Given the description of an element on the screen output the (x, y) to click on. 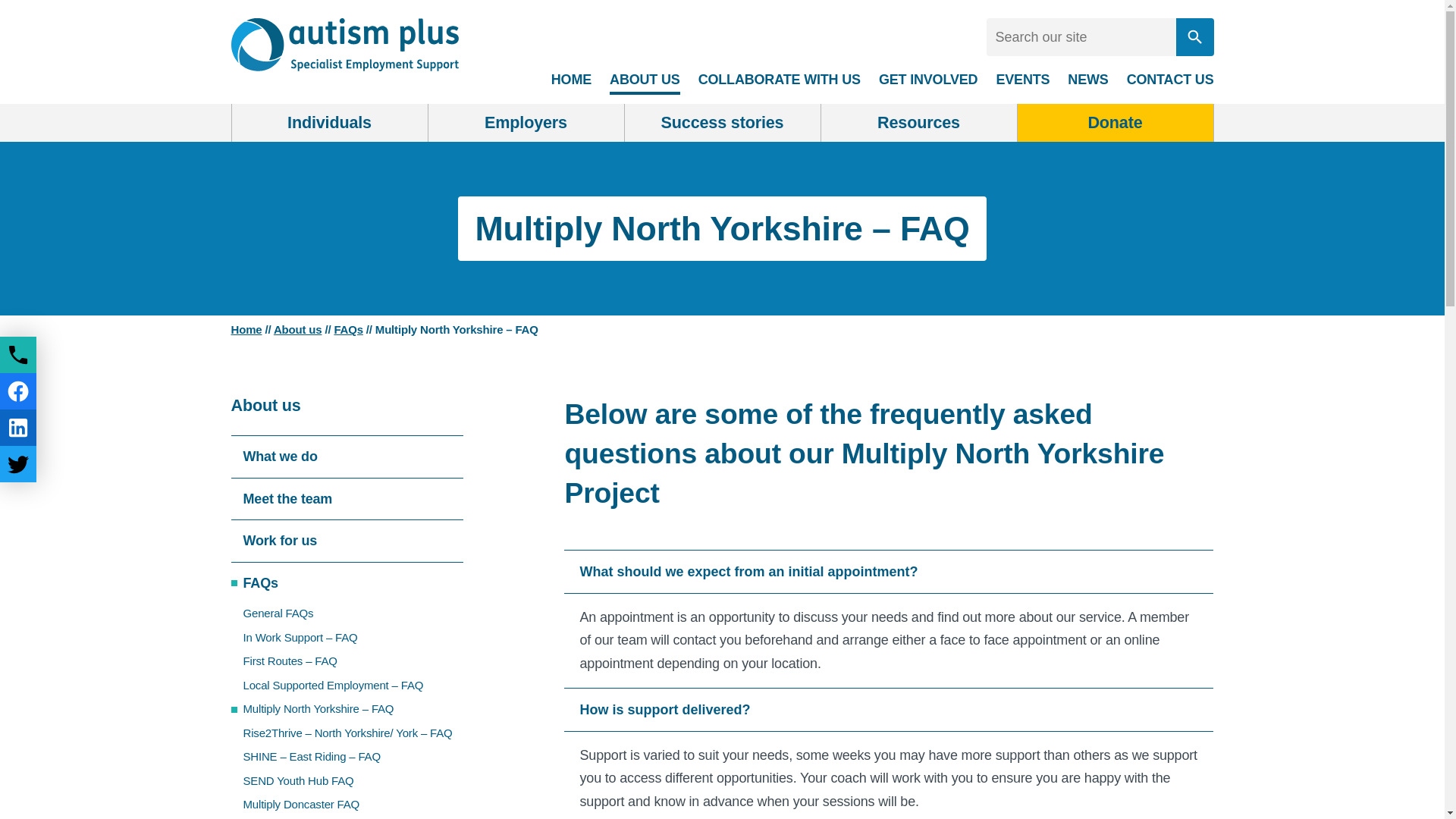
What should we expect from an initial appointment? (888, 571)
ABOUT US (644, 80)
Search (1193, 37)
Resources (918, 123)
How is support delivered? (888, 710)
NEWS (1087, 80)
CONTACT US (1170, 80)
Individuals (329, 123)
What we do (346, 456)
About us (297, 328)
FAQs (347, 328)
Home (246, 328)
Donate (1114, 123)
Success stories (722, 123)
GET INVOLVED (928, 80)
